Given the description of an element on the screen output the (x, y) to click on. 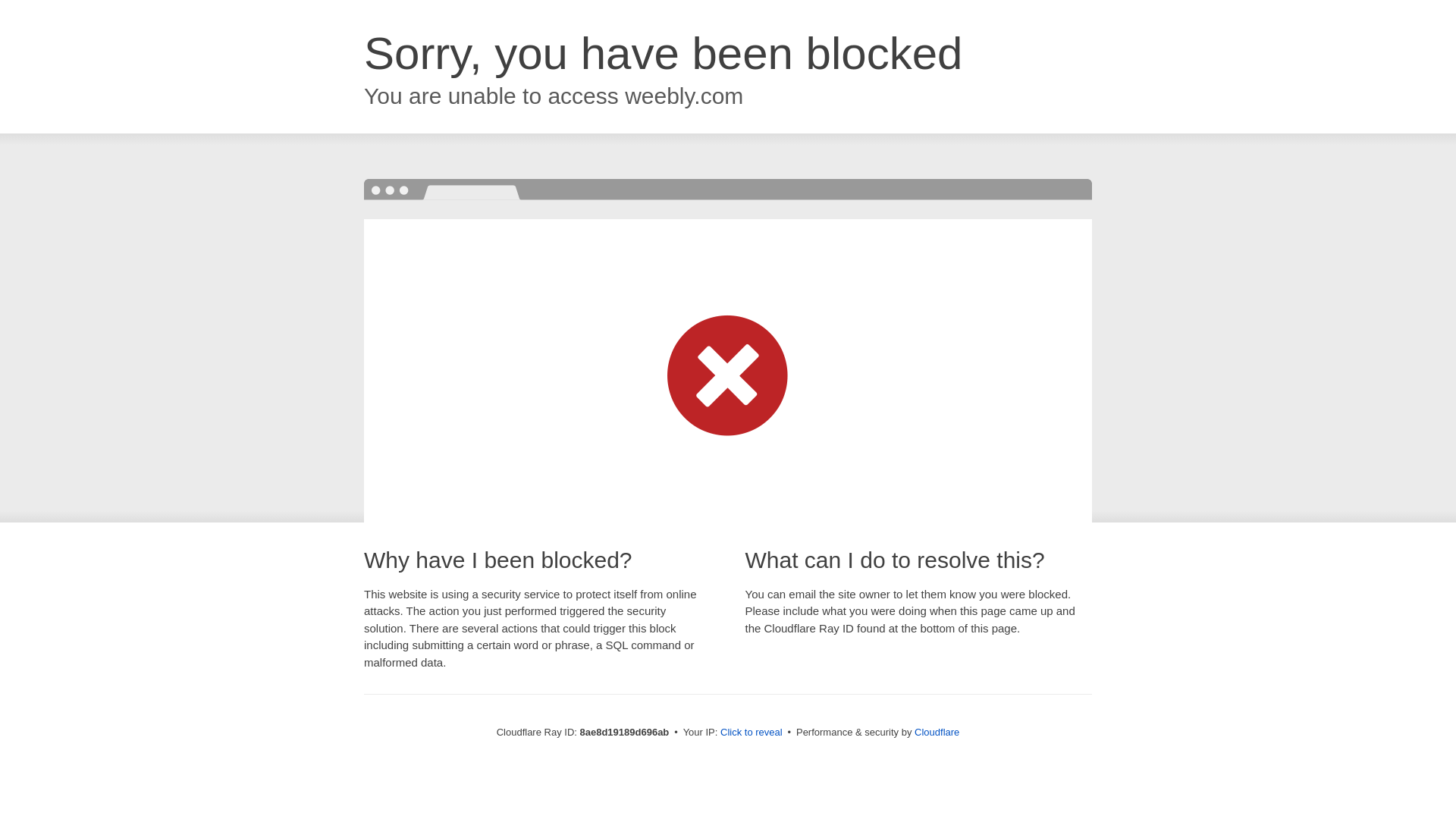
Cloudflare (936, 731)
Click to reveal (751, 732)
